Given the description of an element on the screen output the (x, y) to click on. 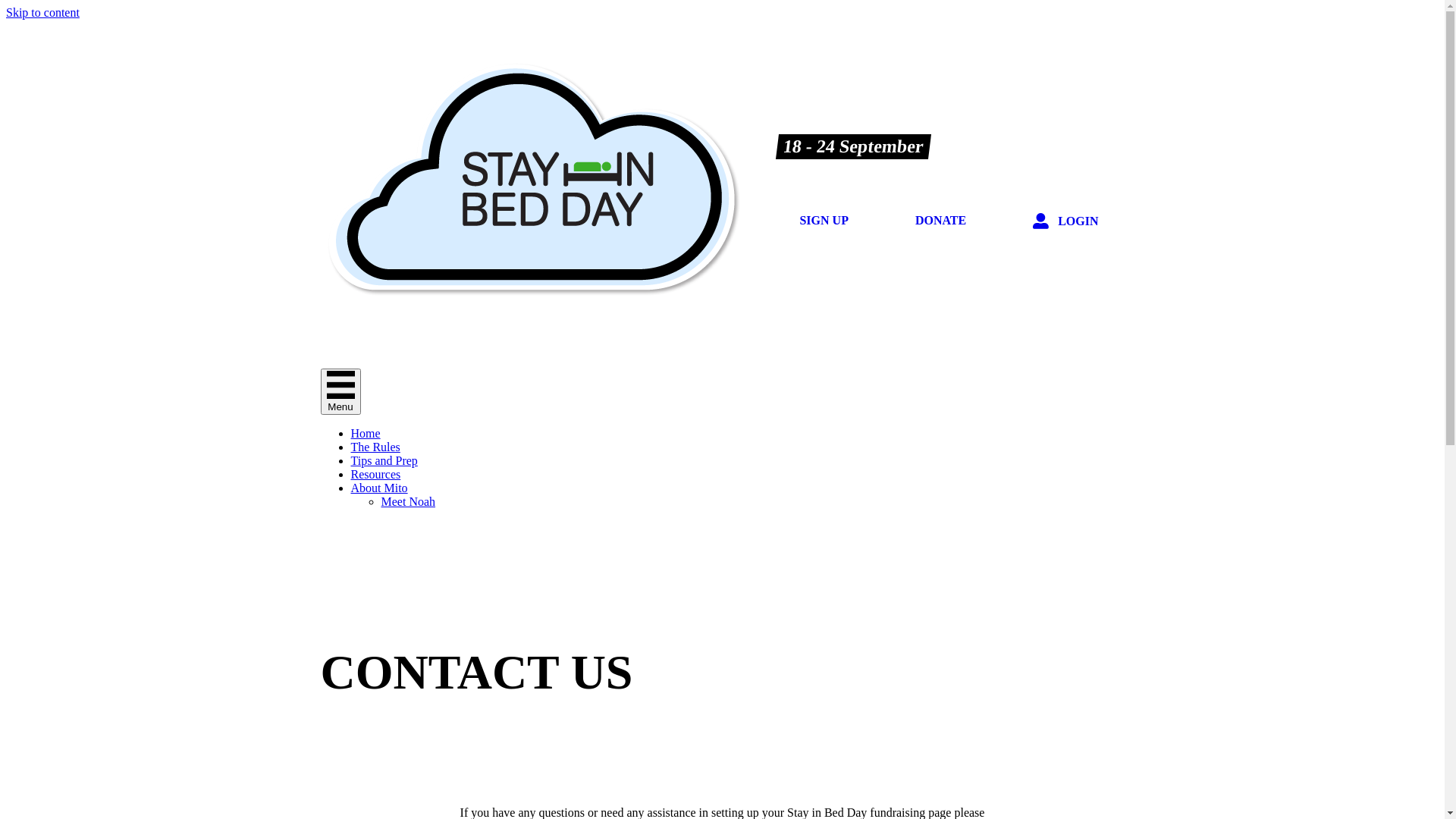
LOGIN Element type: text (1065, 221)
Meet Noah Element type: text (407, 501)
SIGN UP Element type: text (823, 220)
About Mito Element type: text (378, 487)
Skip to content Element type: text (42, 12)
Tips and Prep Element type: text (383, 460)
Menu Element type: text (340, 391)
Resources Element type: text (375, 473)
Home Element type: text (364, 432)
The Rules Element type: text (374, 446)
stay-in-bed-logo-3 Element type: hover (531, 178)
DONATE Element type: text (940, 220)
